Given the description of an element on the screen output the (x, y) to click on. 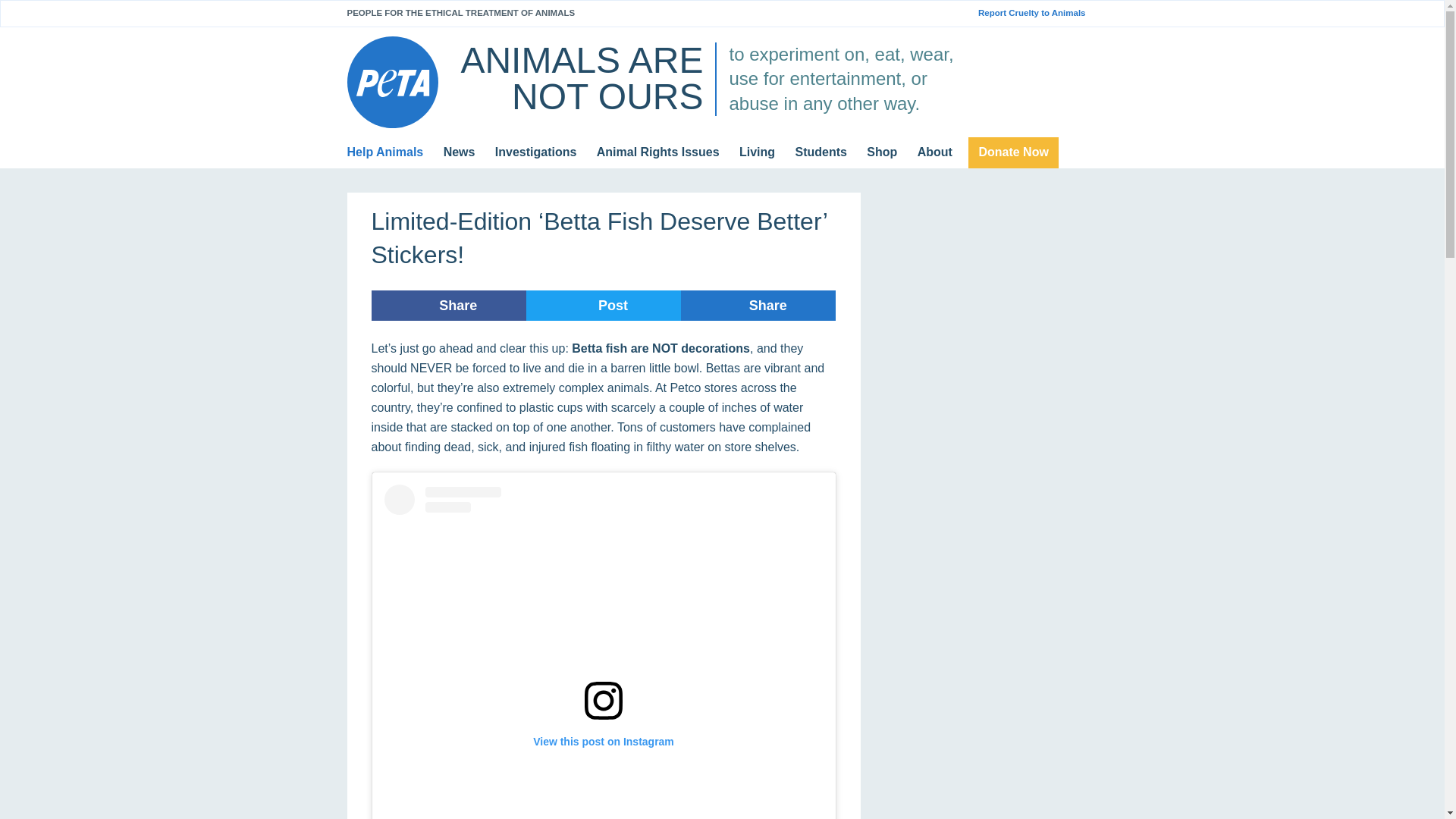
PEOPLE FOR THE ETHICAL TREATMENT OF ANIMALS (461, 13)
ANIMALS ARE NOT OURS (581, 78)
Report Cruelty to Animals (1037, 13)
